Given the description of an element on the screen output the (x, y) to click on. 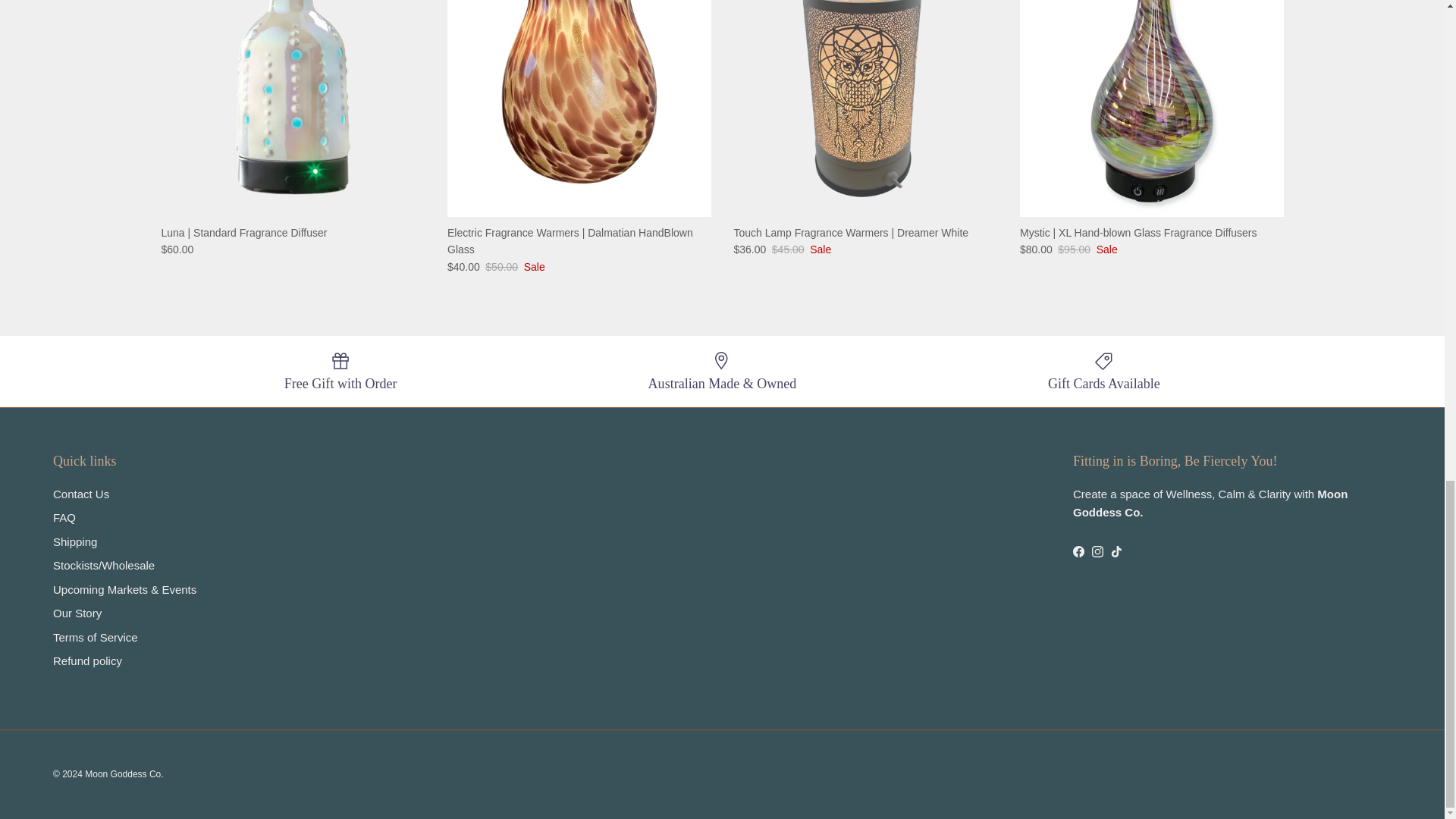
Moon Goddess Co on Facebook (1078, 551)
Moon Goddess Co on Instagram (1097, 551)
Moon Goddess Co on TikTok (1116, 551)
